Given the description of an element on the screen output the (x, y) to click on. 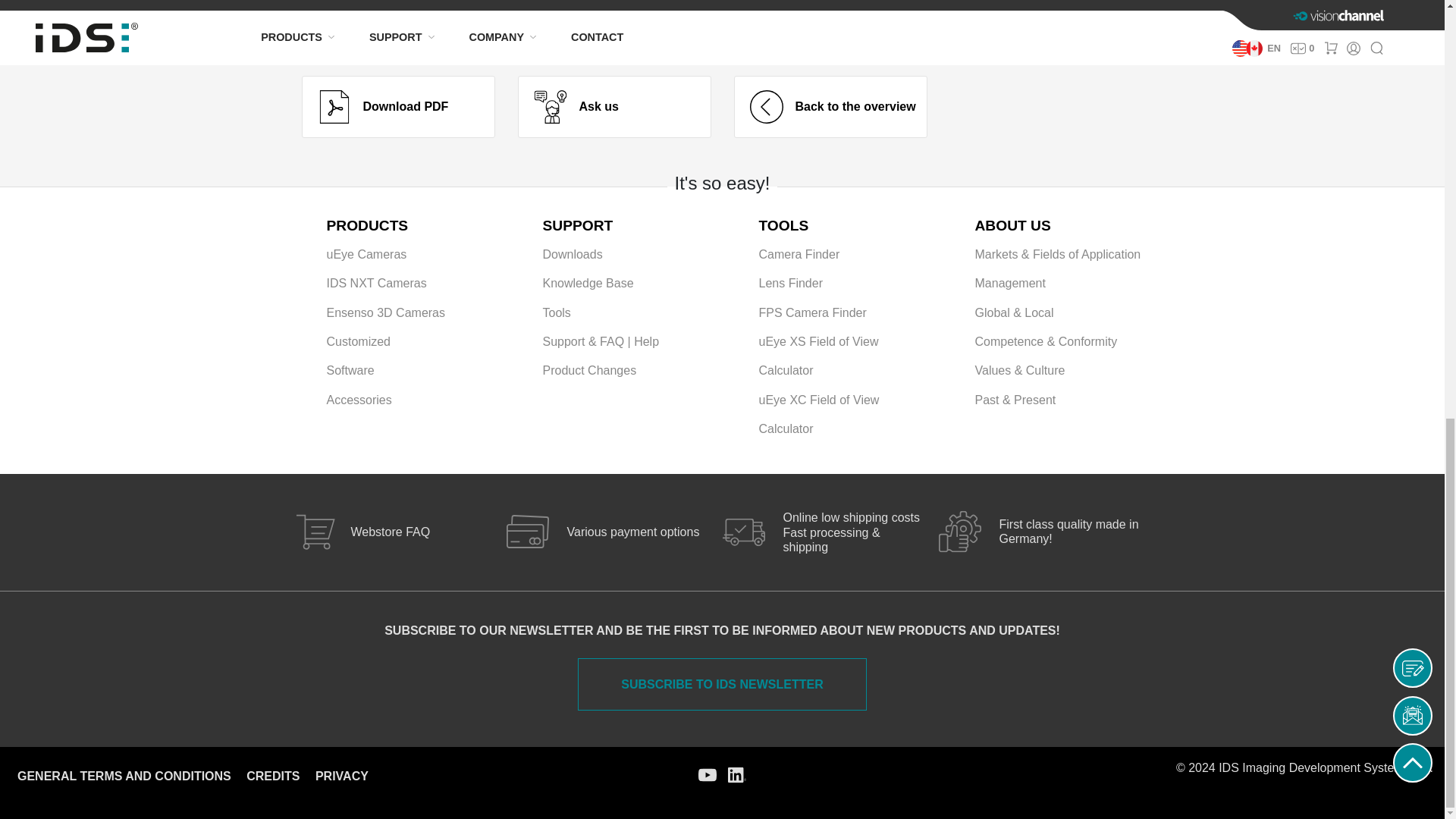
LinkedIn (736, 773)
YouTube (707, 773)
